Given the description of an element on the screen output the (x, y) to click on. 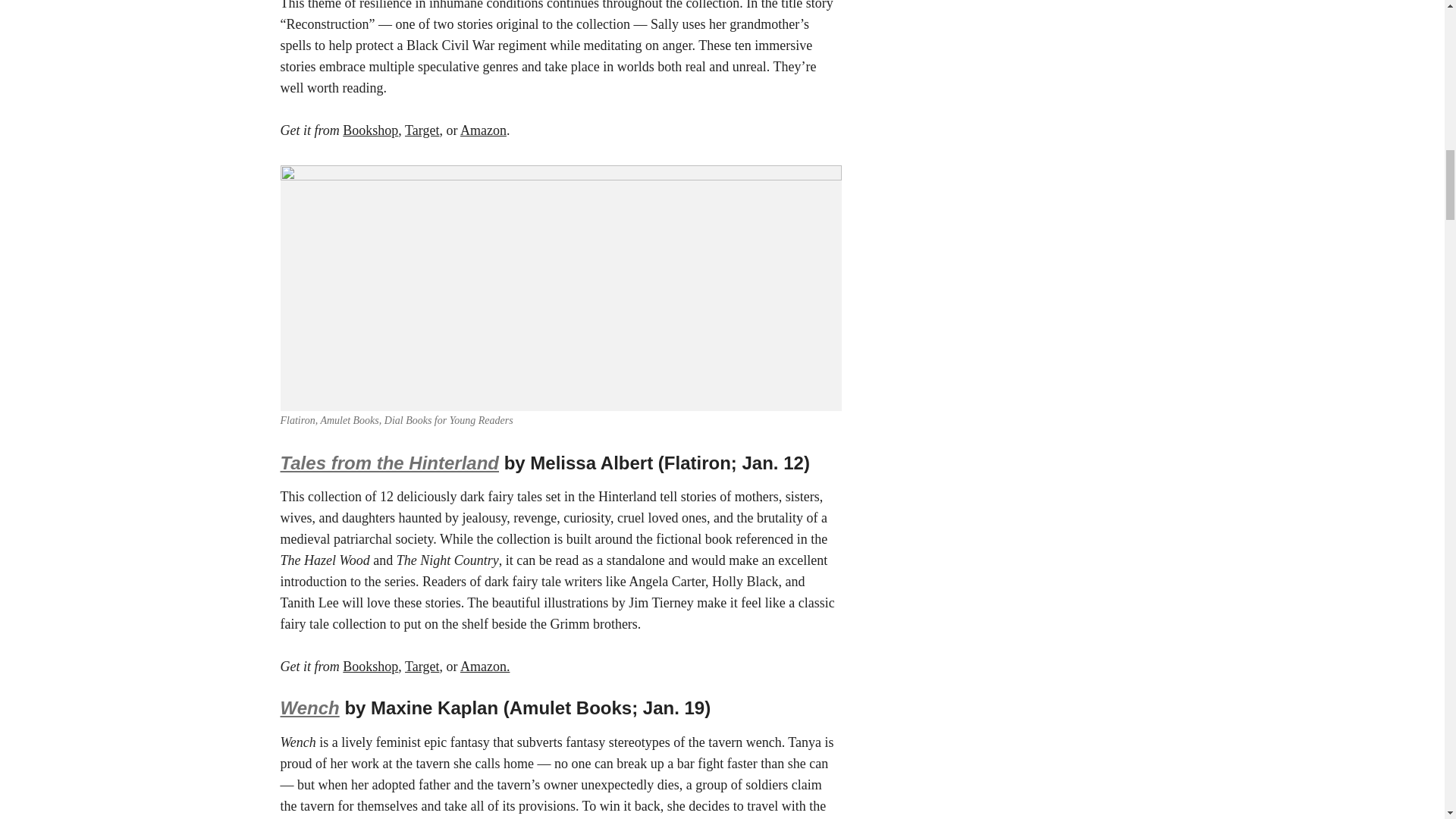
Bookshop (369, 130)
Amazon (483, 130)
Bookshop (369, 666)
Wench (310, 707)
Tales from the Hinterland (390, 462)
Amazon. (484, 666)
Target (421, 130)
Target (421, 666)
